Given the description of an element on the screen output the (x, y) to click on. 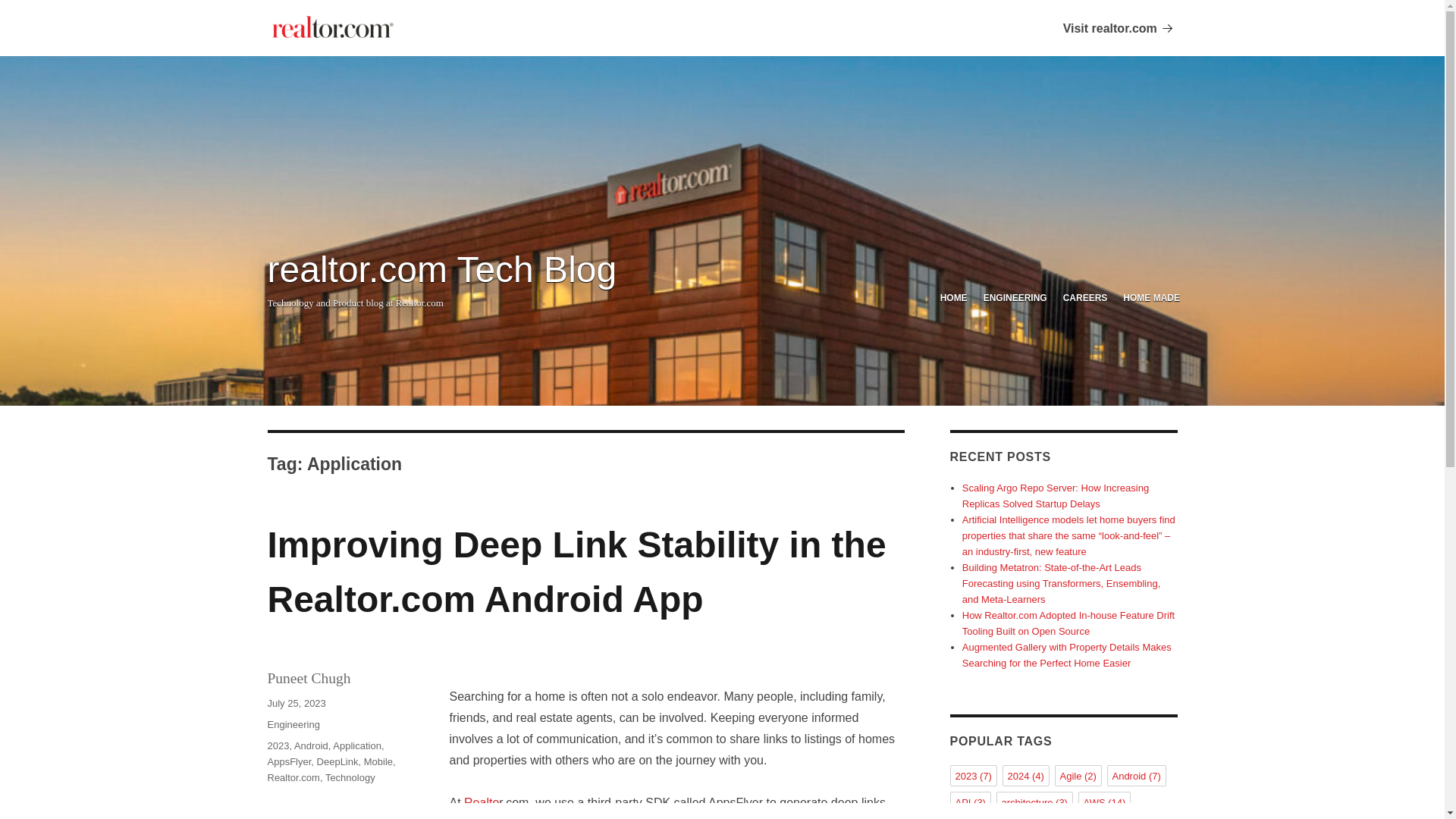
July 25, 2023 (295, 703)
Engineering (292, 724)
DeepLink (337, 761)
Visit realtor.com (332, 26)
2023 (277, 745)
realtor.com Tech Blog (440, 269)
HOME MADE (1151, 299)
Realto (481, 802)
Application (357, 745)
Realtor.com (292, 777)
Puneet Chugh (308, 678)
Mobile (378, 761)
CAREERS (1084, 299)
